Given the description of an element on the screen output the (x, y) to click on. 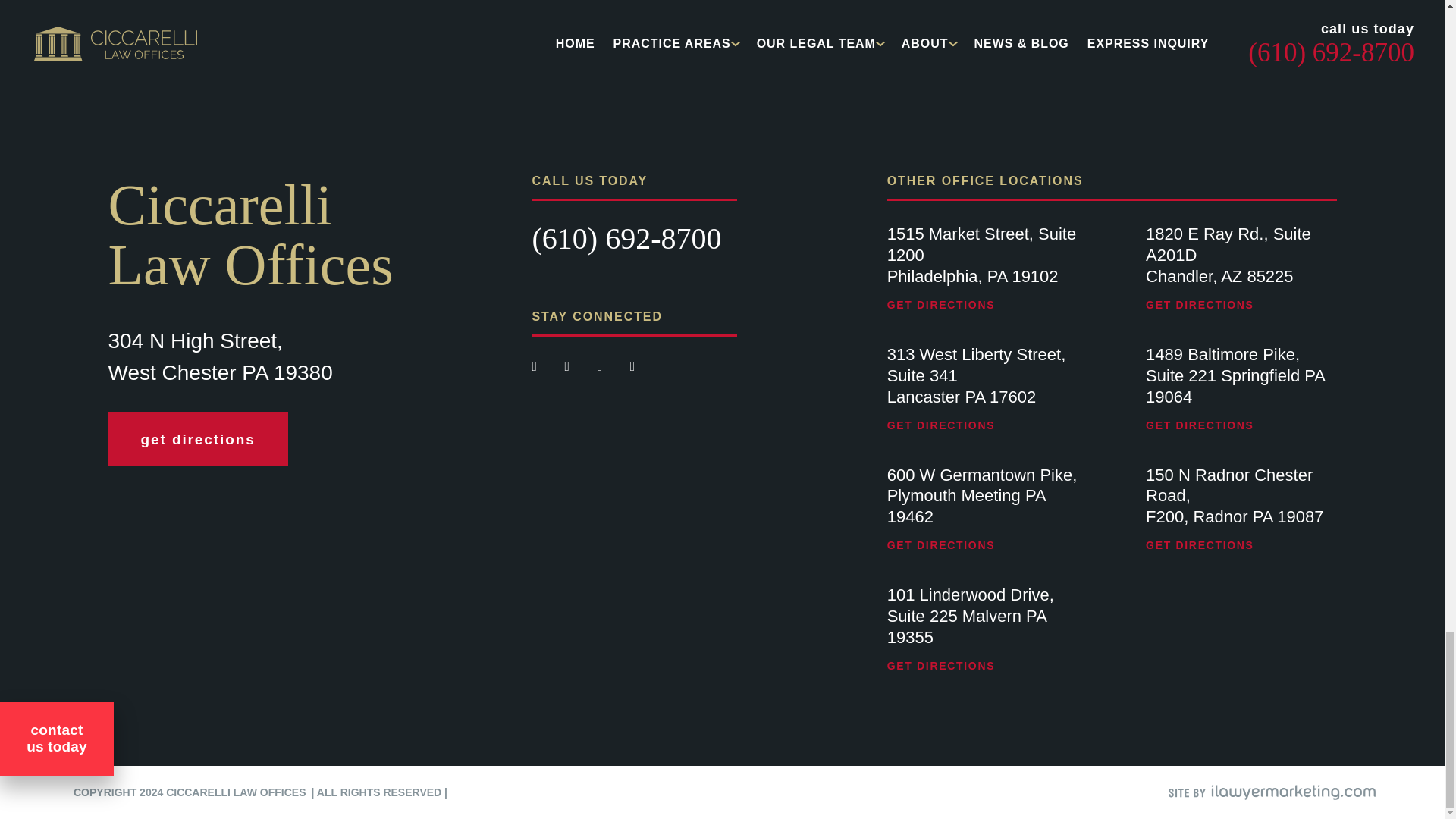
Call Toll Free (627, 238)
